Given the description of an element on the screen output the (x, y) to click on. 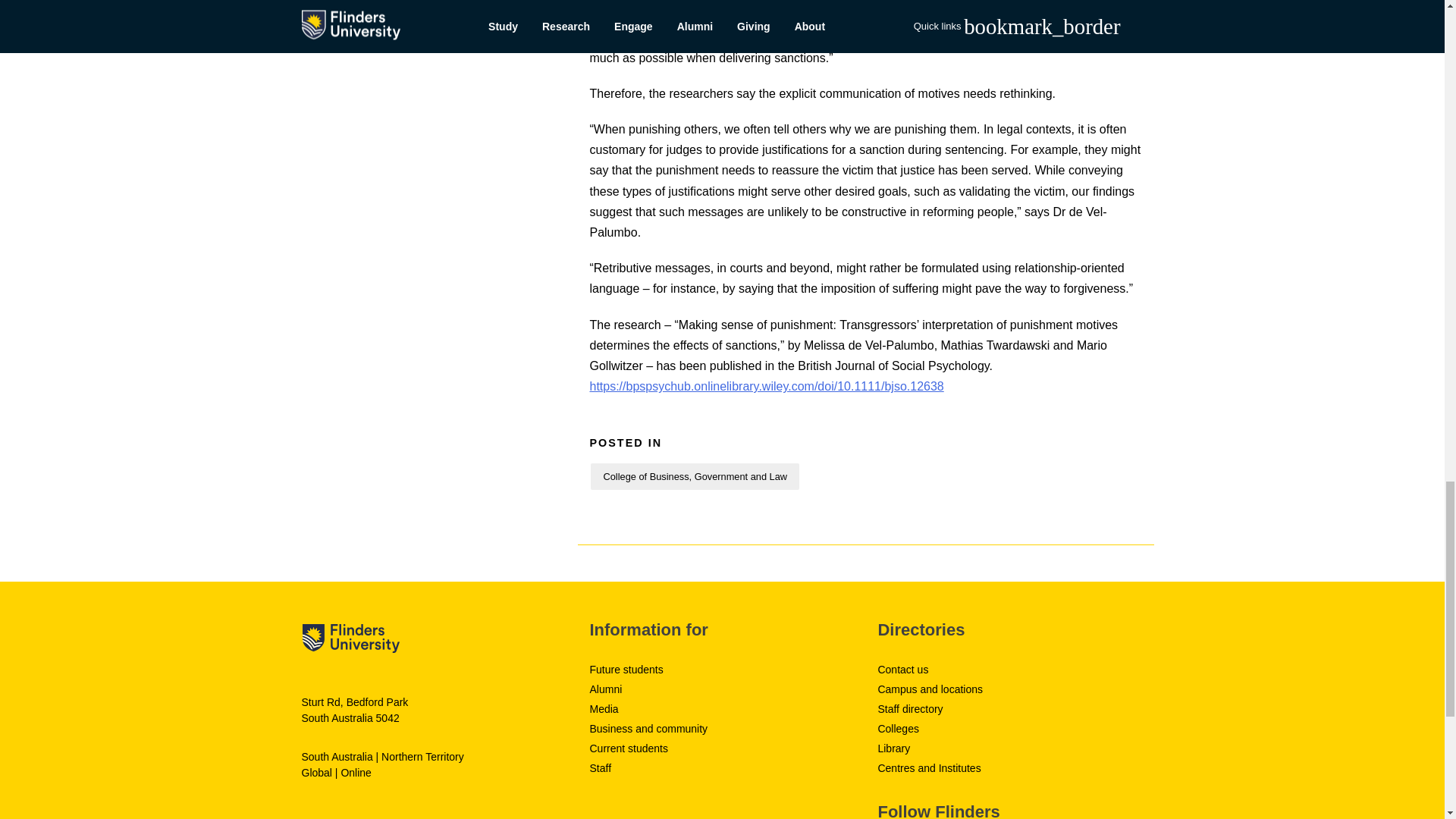
Alumni (605, 689)
Current students (628, 748)
Staff (600, 767)
Future students (625, 669)
College of Business, Government and Law (695, 476)
Business and community (648, 728)
Media (603, 708)
Contact us (902, 669)
